Given the description of an element on the screen output the (x, y) to click on. 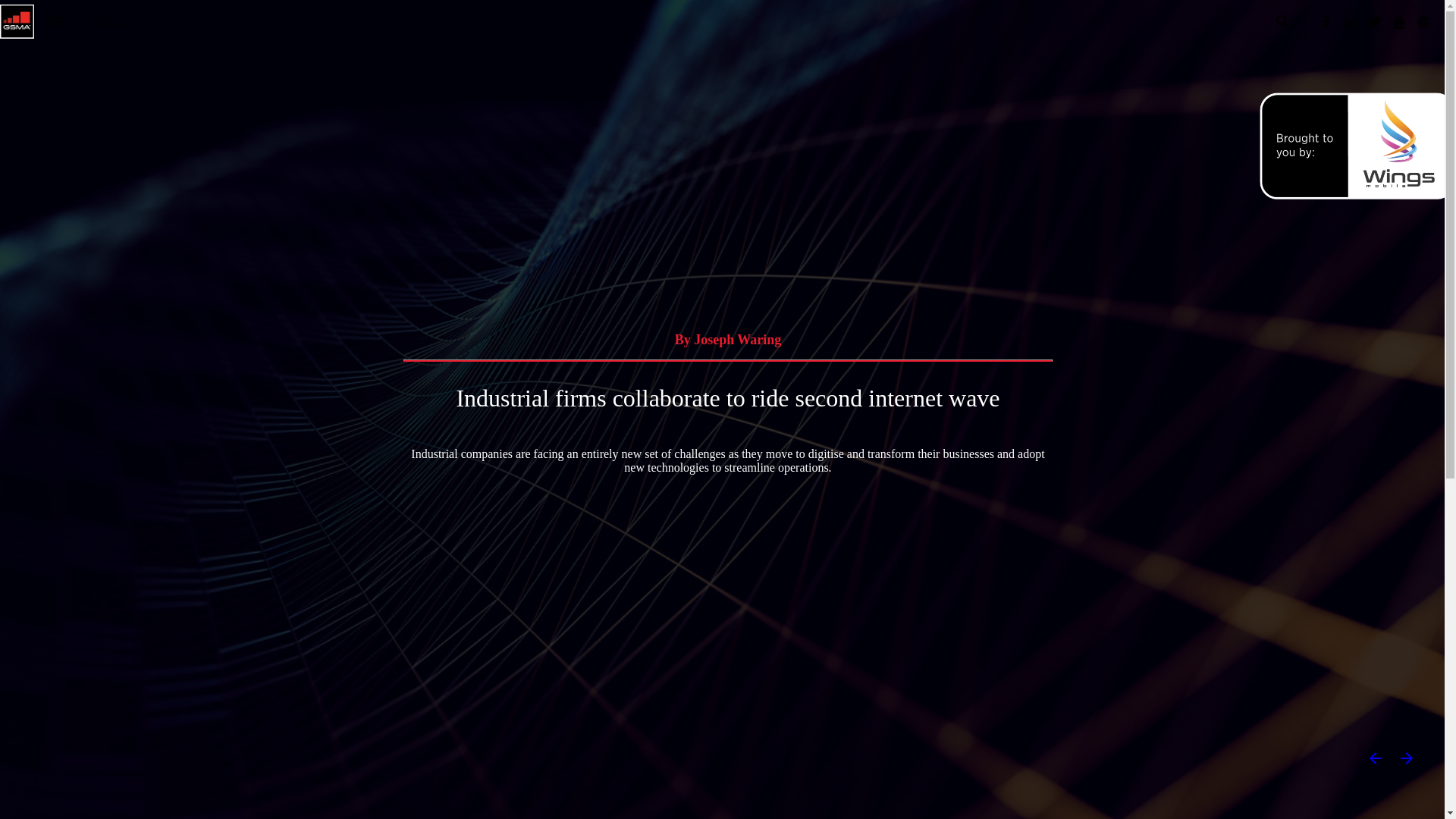
Youtube (1399, 20)
Facebook (1326, 20)
Linkedin (1350, 20)
Twitter (1375, 20)
